Given the description of an element on the screen output the (x, y) to click on. 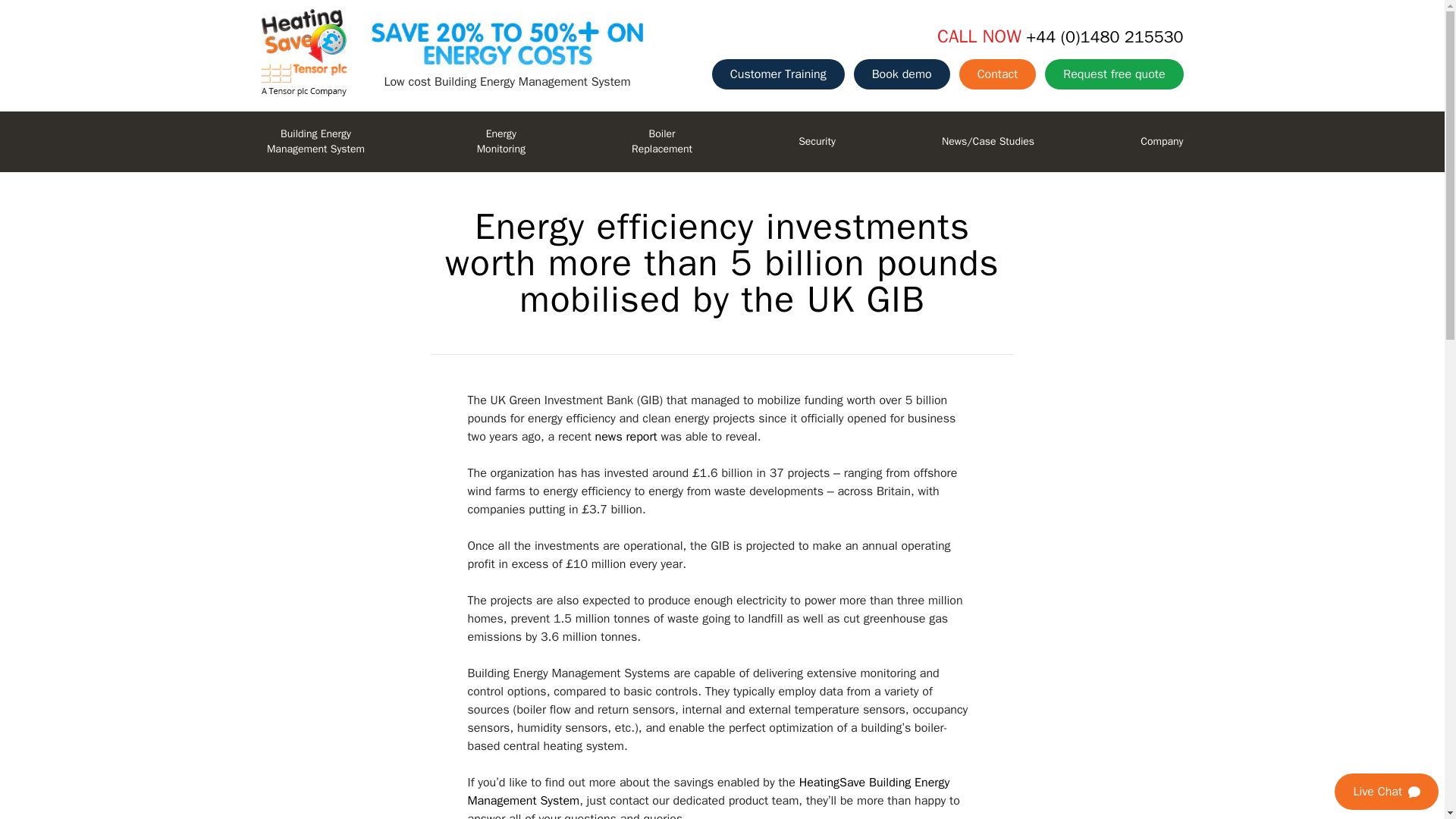
Request free quote (1113, 73)
Building Energy Management System (314, 141)
Contact (997, 73)
Book demo (500, 141)
Customer Training (901, 73)
